Given the description of an element on the screen output the (x, y) to click on. 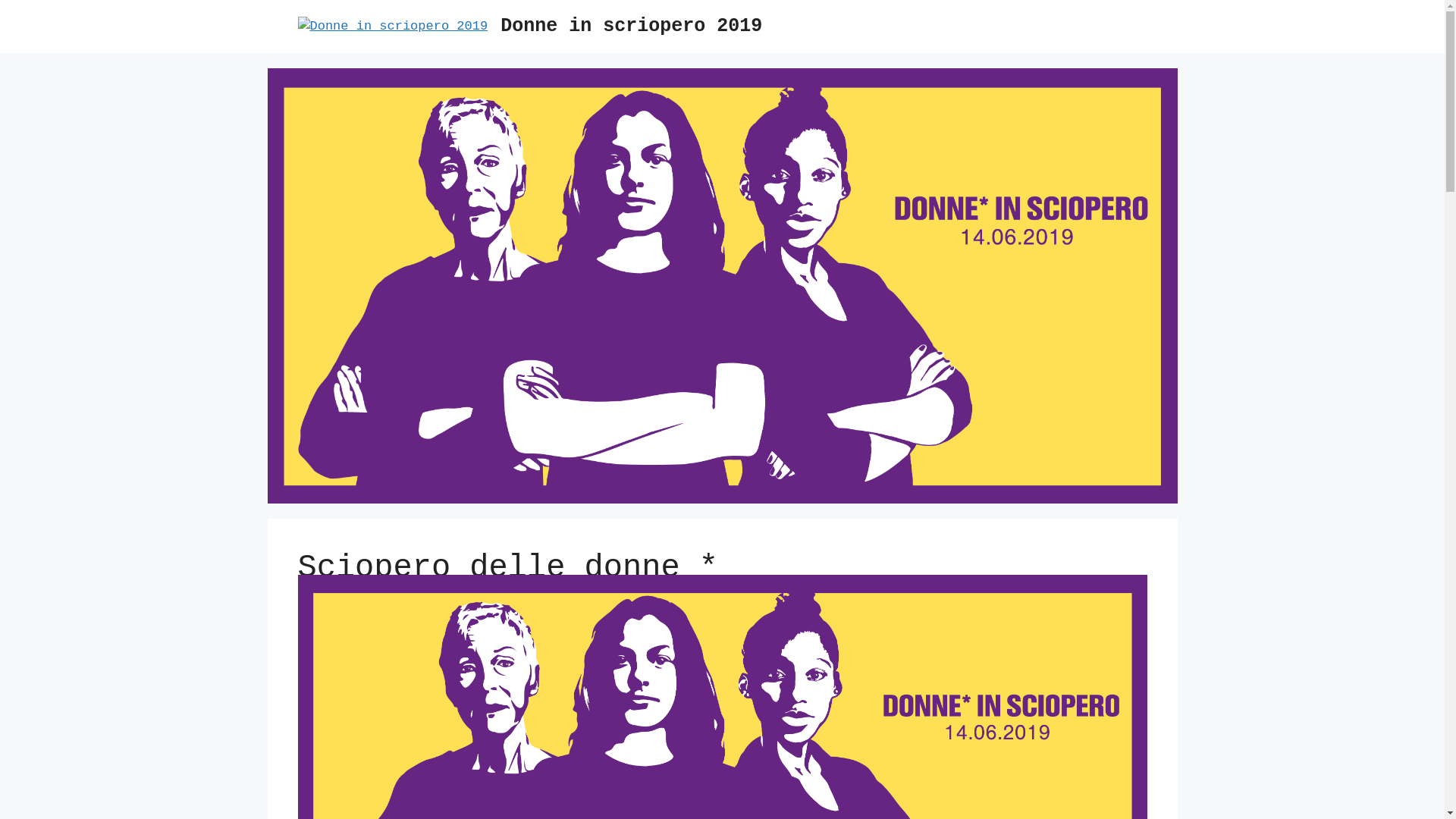
Donne in scriopero 2019 Element type: text (631, 26)
